Given the description of an element on the screen output the (x, y) to click on. 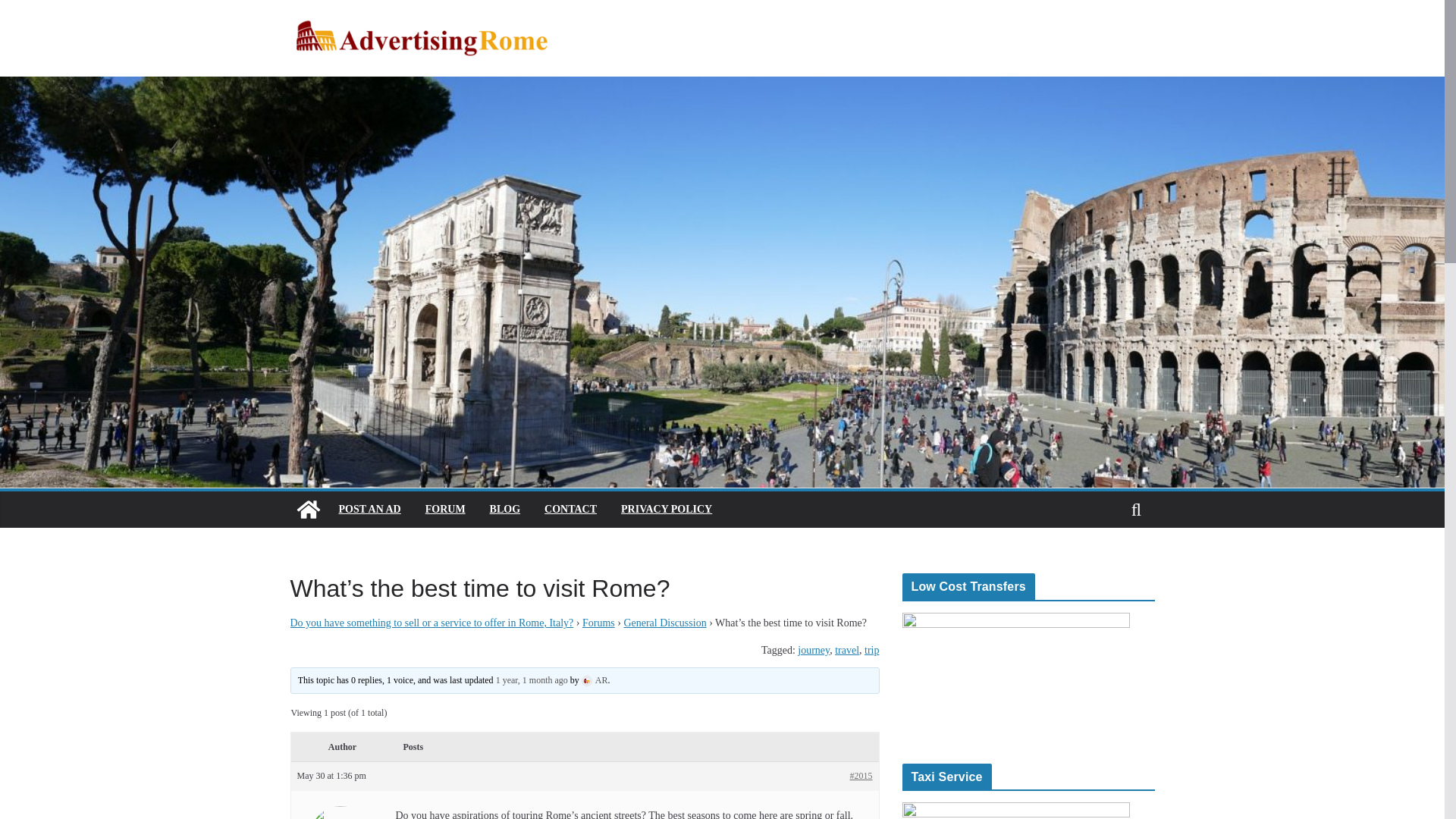
journey (813, 650)
View AR's profile (594, 679)
View AR's profile (340, 809)
AR (594, 679)
AR (340, 809)
1 year, 1 month ago (531, 679)
BLOG (504, 509)
travel (846, 650)
Forums (598, 622)
CONTACT (570, 509)
PRIVACY POLICY (666, 509)
POST AN AD (368, 509)
trip (871, 650)
General Discussion (664, 622)
